Given the description of an element on the screen output the (x, y) to click on. 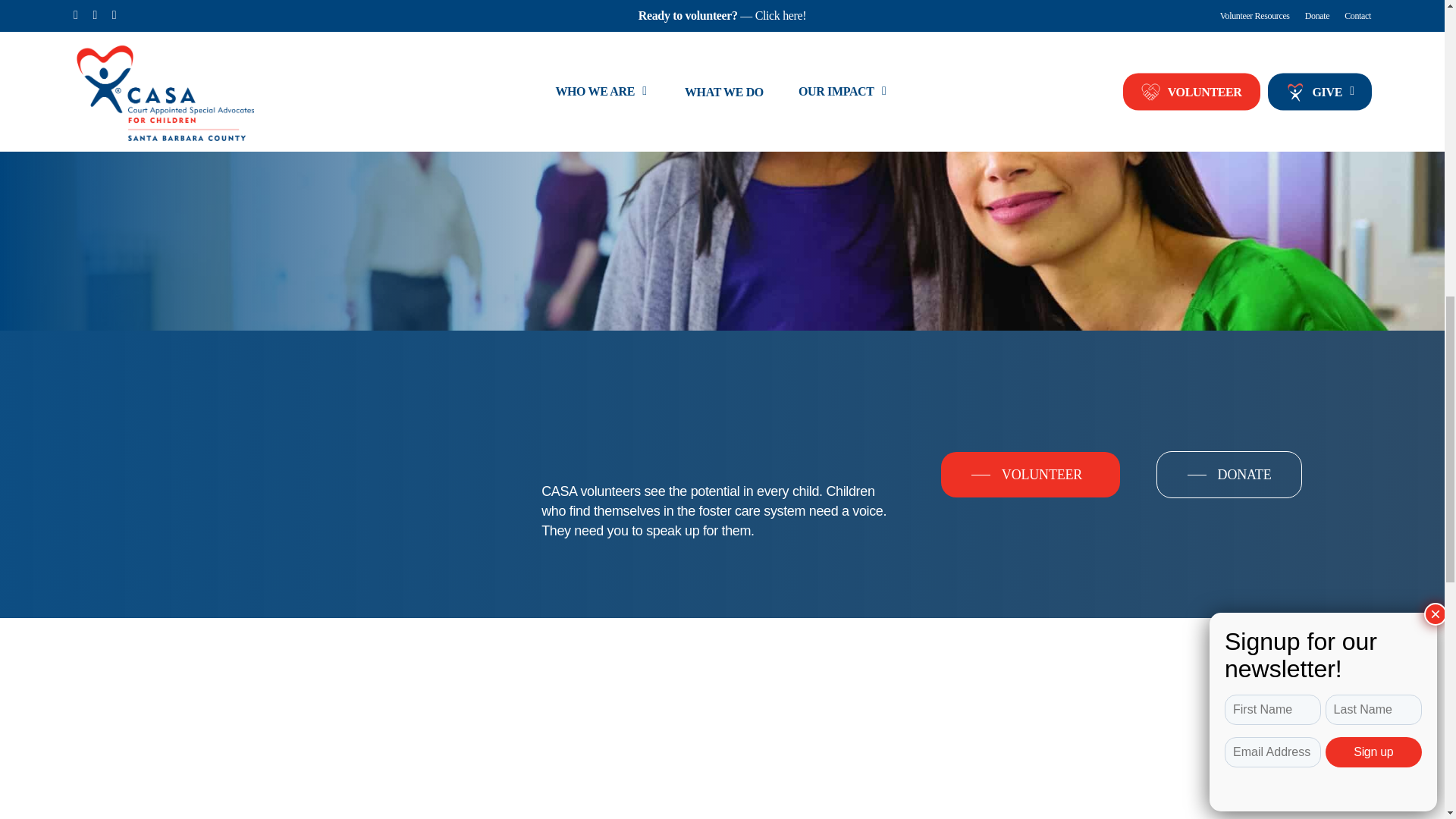
DONATE (1229, 474)
VOLUNTEER (1030, 474)
